Given the description of an element on the screen output the (x, y) to click on. 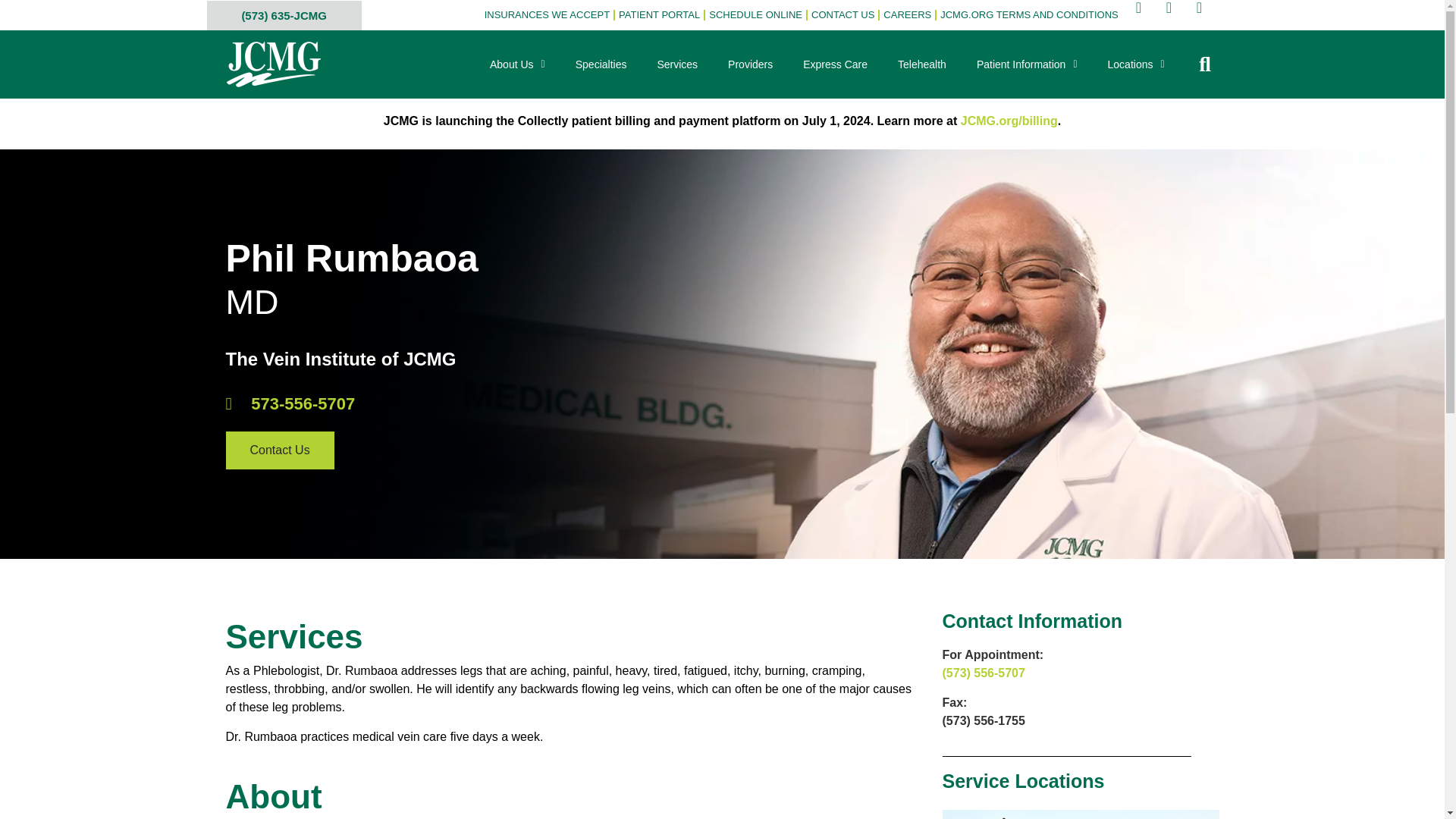
Patient Information (1026, 64)
JCMG.ORG TERMS AND CONDITIONS (1029, 15)
PATIENT PORTAL (658, 15)
INSURANCES WE ACCEPT (546, 15)
Express Care (834, 64)
Telehealth (921, 64)
Providers (750, 64)
CAREERS (906, 15)
Cropped JCMG Square White.png (273, 63)
Specialties (601, 64)
About Us (517, 64)
Services (677, 64)
CONTACT US (842, 15)
SCHEDULE ONLINE (755, 15)
